Given the description of an element on the screen output the (x, y) to click on. 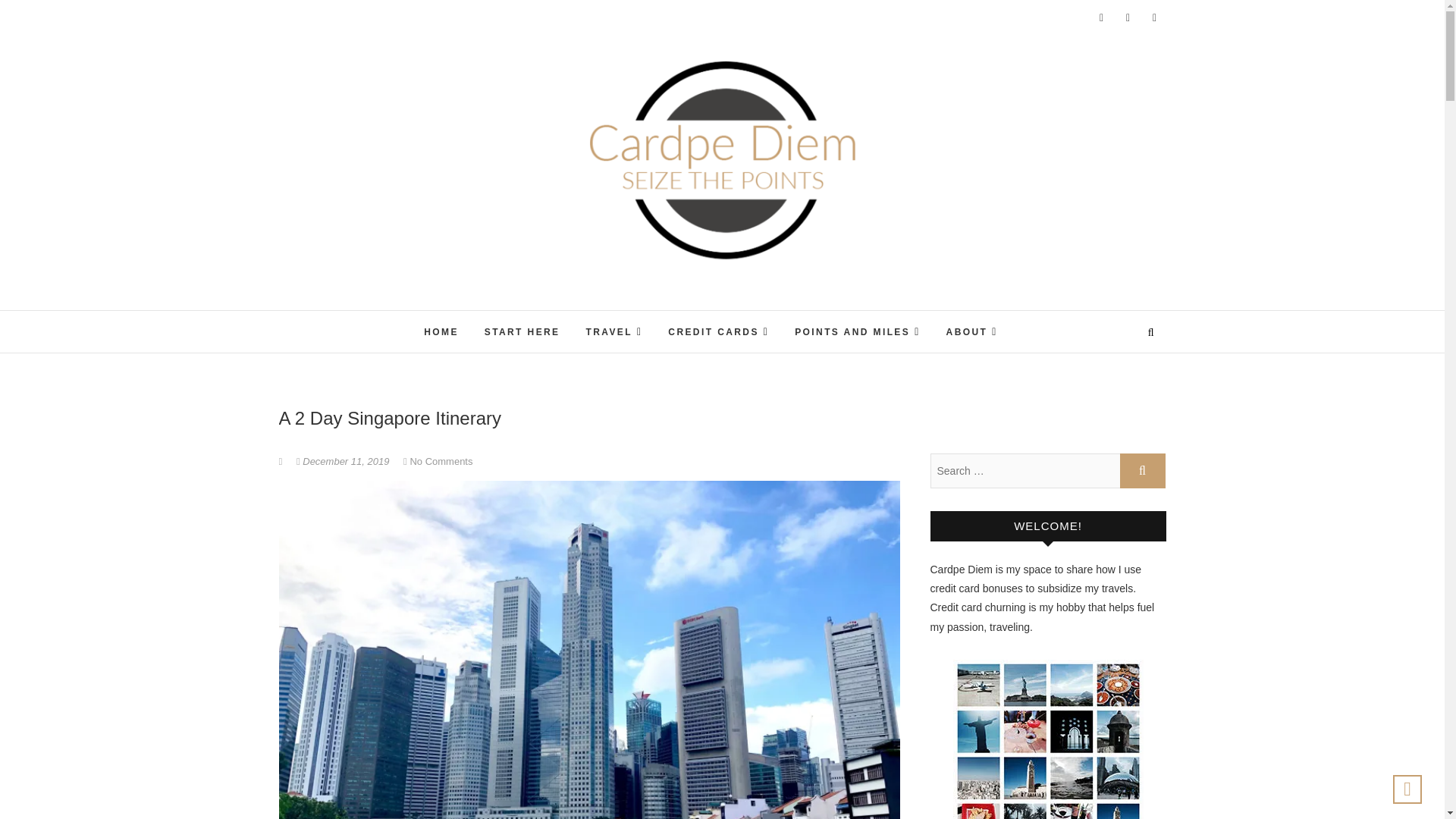
Cardpe Diem (633, 312)
POINTS AND MILES (857, 331)
START HERE (522, 332)
TRAVEL (613, 331)
CREDIT CARDS (718, 331)
6:00 am (344, 460)
Cardpe Diem (633, 312)
HOME (441, 332)
